Given the description of an element on the screen output the (x, y) to click on. 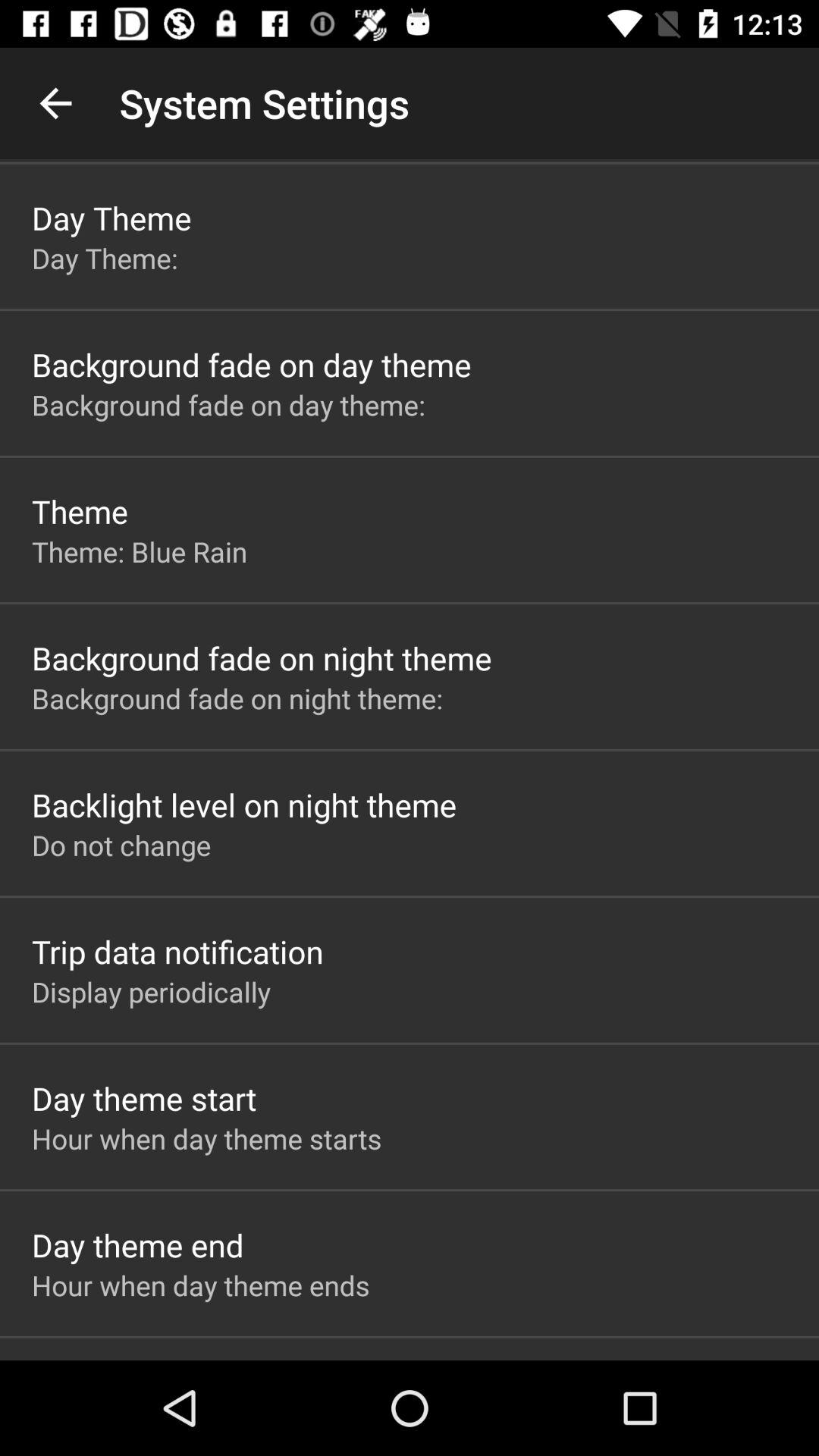
open the display periodically item (150, 991)
